Given the description of an element on the screen output the (x, y) to click on. 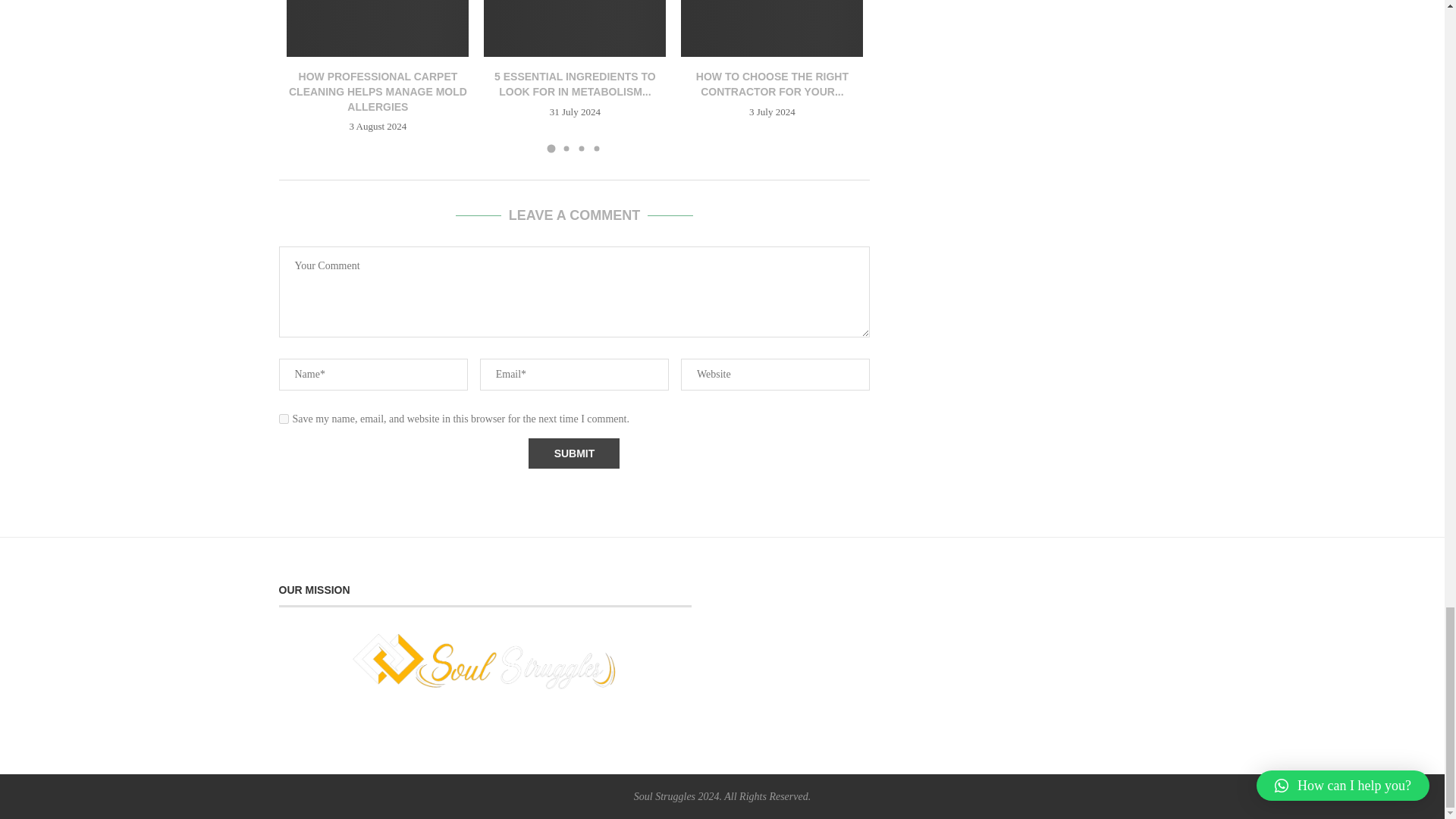
Submit (574, 453)
How Professional Carpet Cleaning Helps Manage Mold Allergies (377, 28)
yes (283, 419)
